Given the description of an element on the screen output the (x, y) to click on. 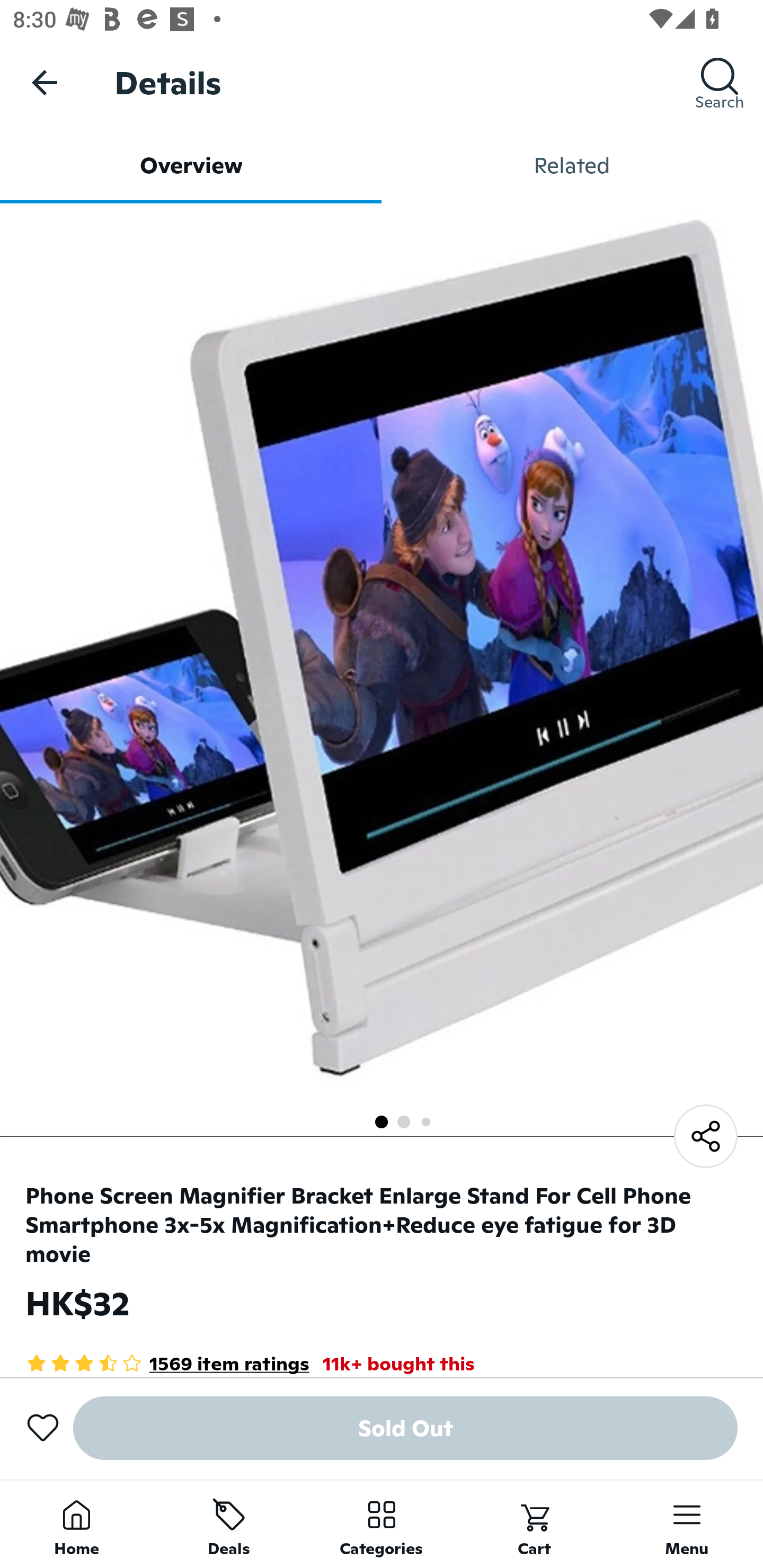
Navigate up (44, 82)
Search (719, 82)
Related (572, 165)
3.7 Star Rating 1569 item ratings (167, 1363)
Sold Out (405, 1428)
Home (76, 1523)
Deals (228, 1523)
Categories (381, 1523)
Cart (533, 1523)
Menu (686, 1523)
